Given the description of an element on the screen output the (x, y) to click on. 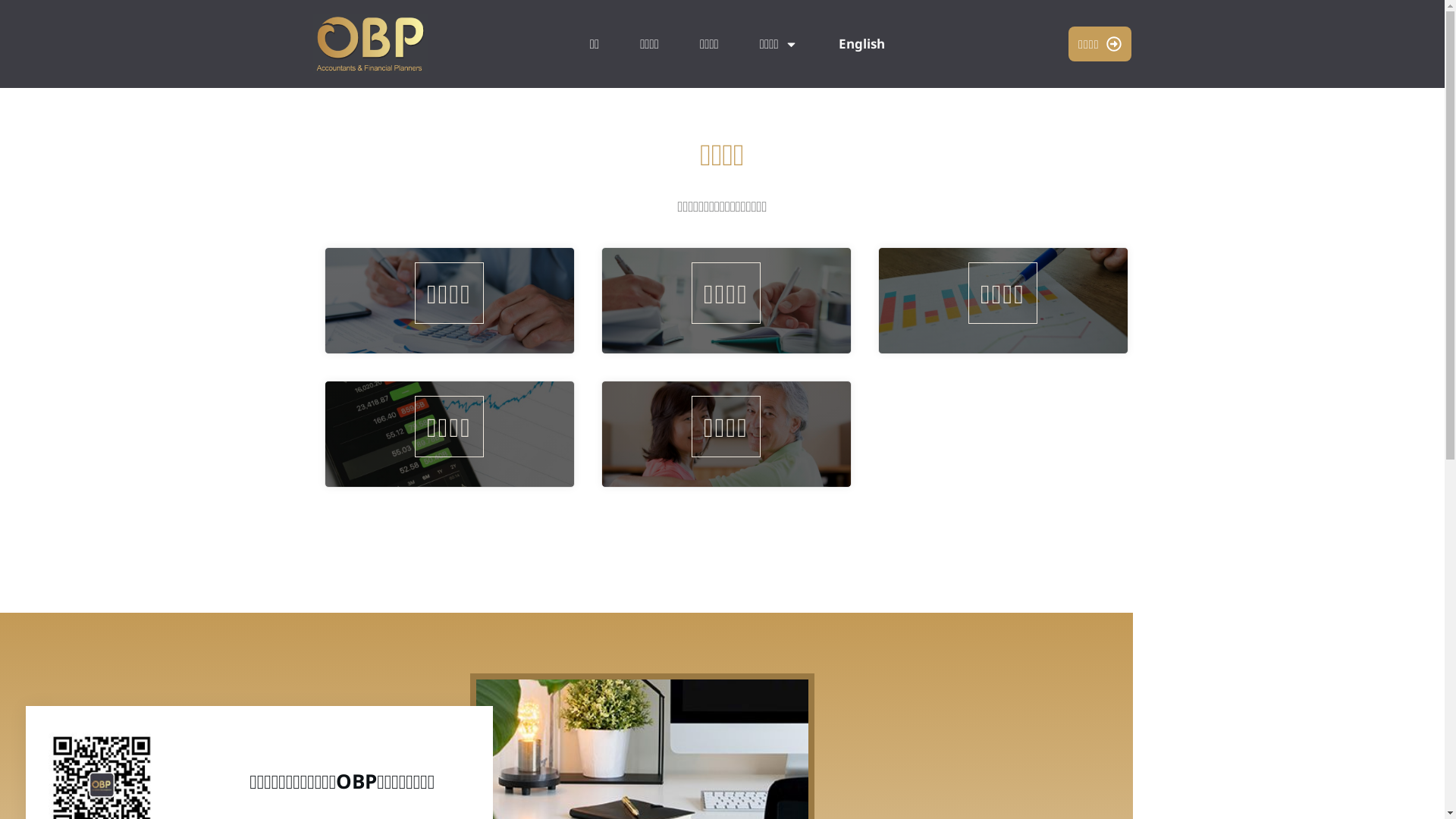
English Element type: text (861, 43)
